Given the description of an element on the screen output the (x, y) to click on. 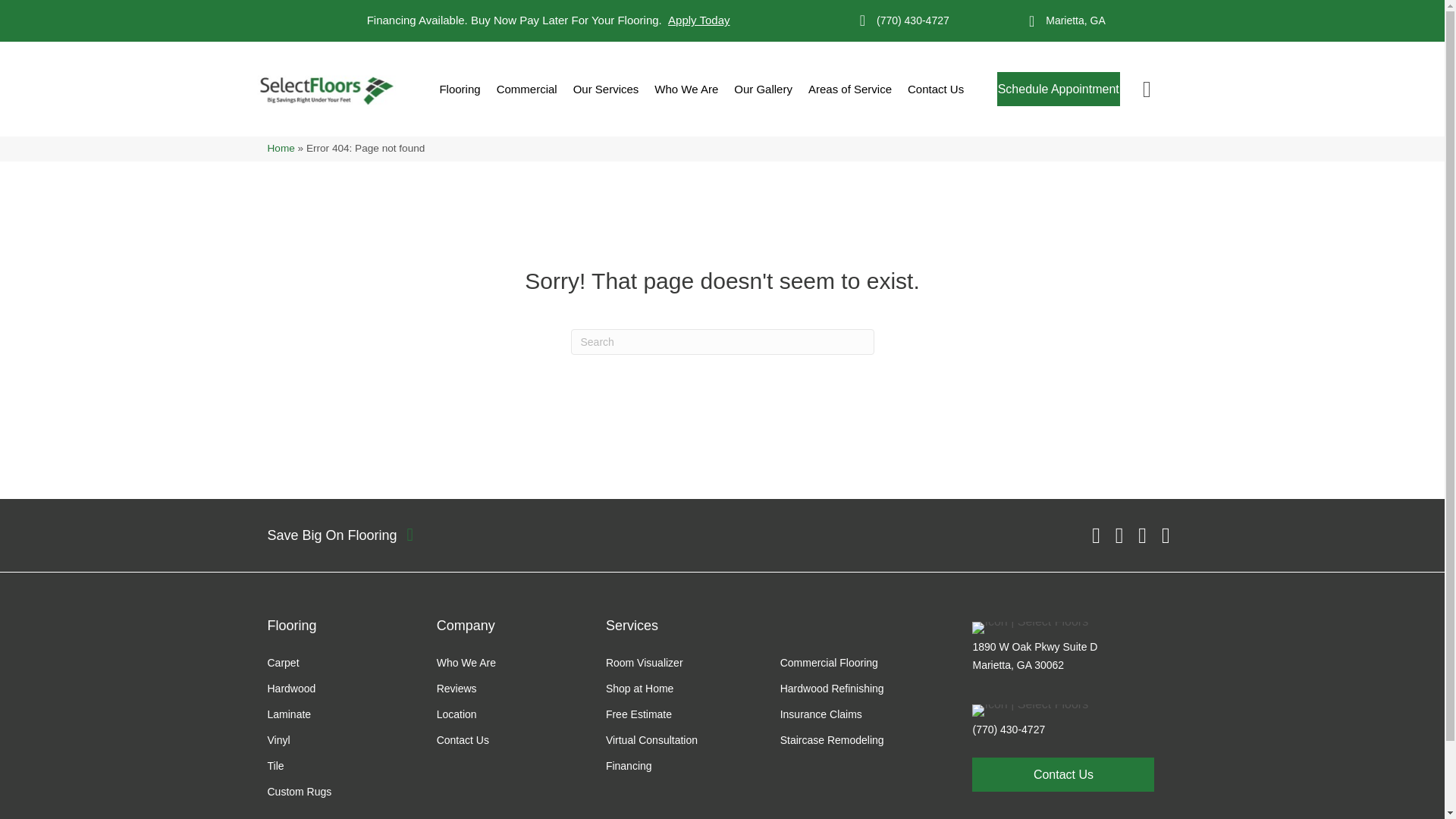
Flooring (458, 89)
Our Services (606, 89)
Marietta, GA (1075, 20)
Click Here (1063, 774)
Bitmap Copy (1029, 627)
Click Here (339, 534)
Click Here (1058, 89)
Type and press Enter to search. (721, 341)
Apply Today (698, 19)
